Given the description of an element on the screen output the (x, y) to click on. 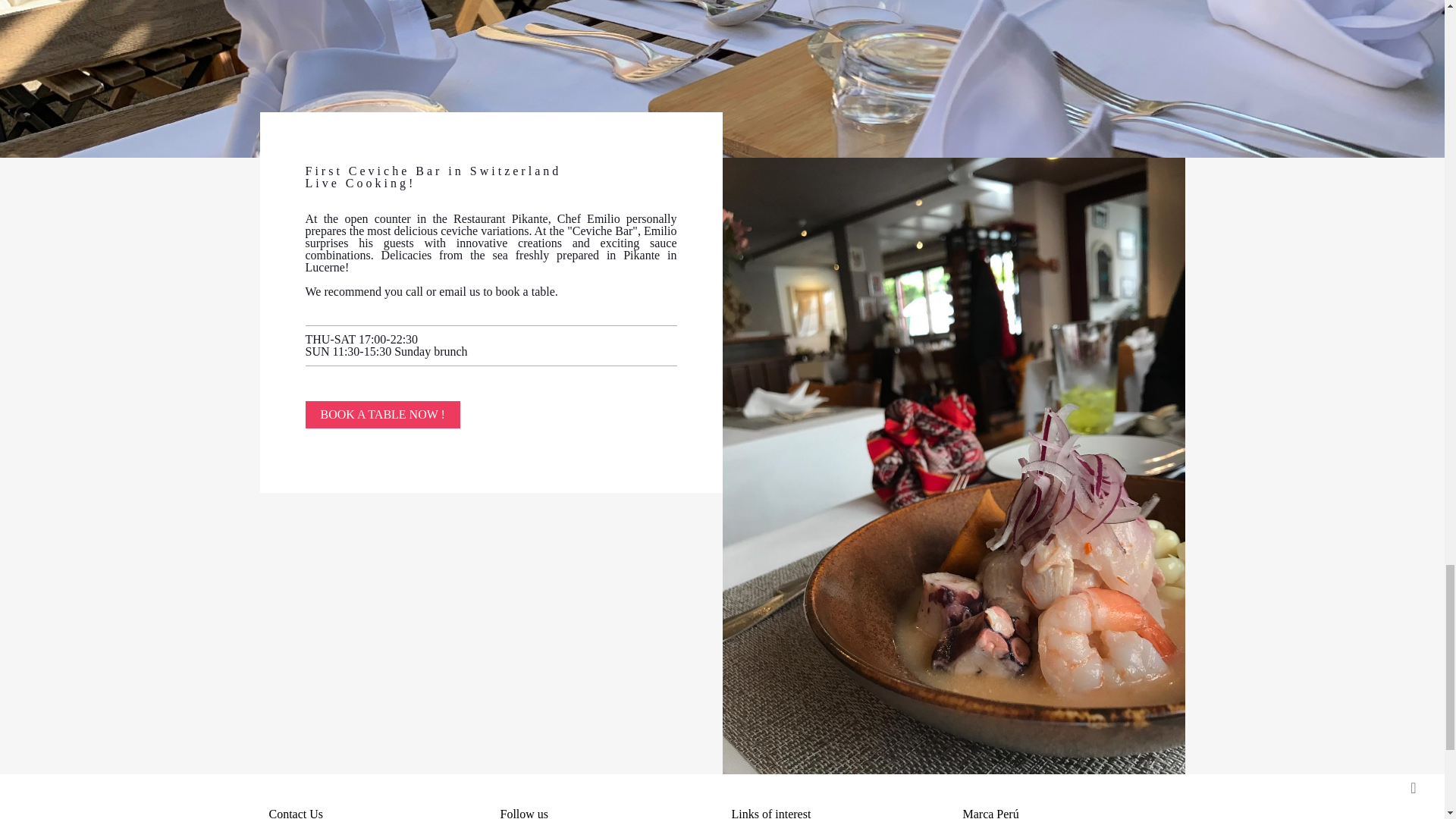
BOOK A TABLE NOW ! (382, 414)
